Given the description of an element on the screen output the (x, y) to click on. 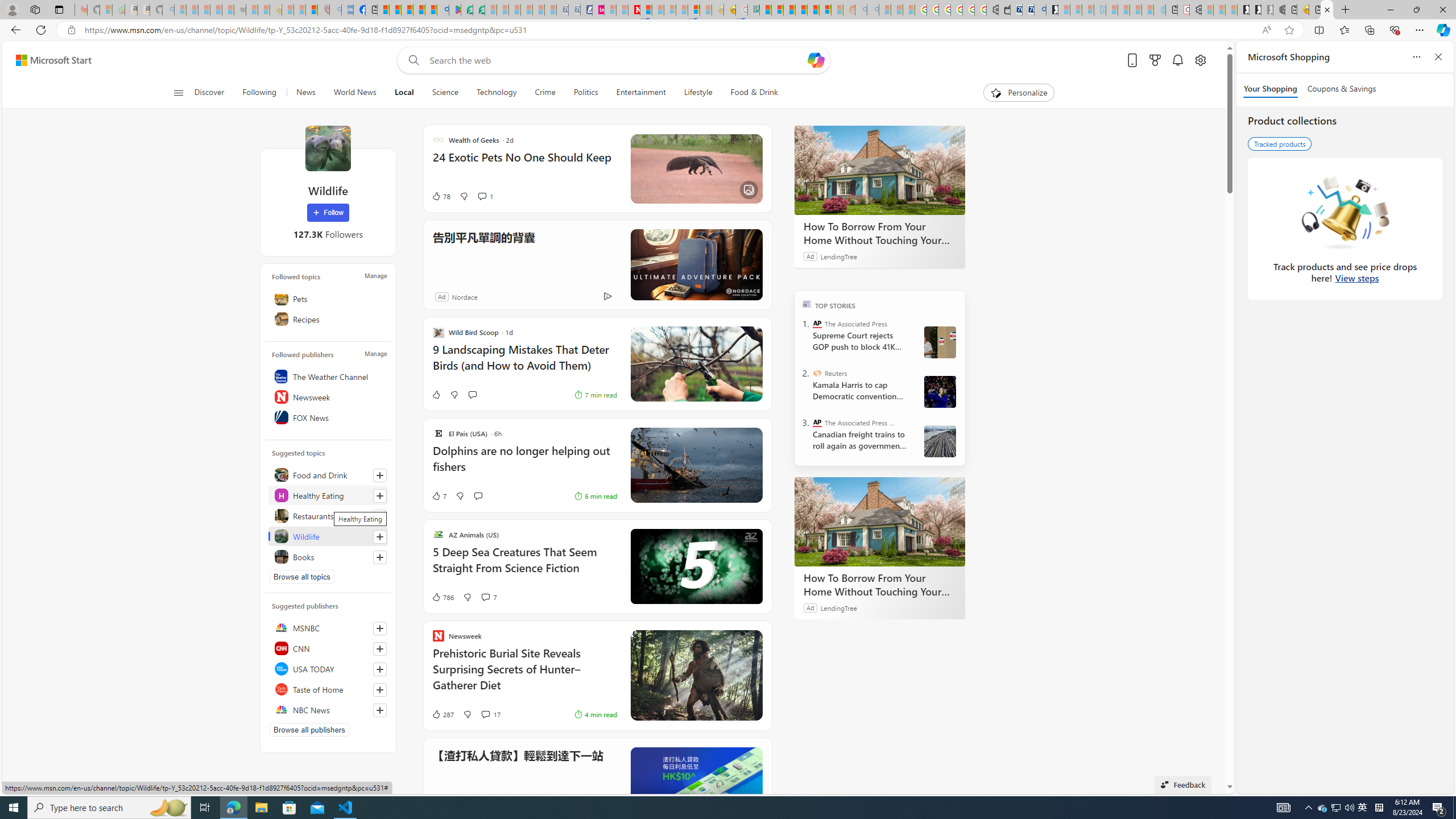
Open navigation menu (177, 92)
Class: hero-image (696, 566)
 Harris and Walz campaign in Wisconsin (940, 391)
